Given the description of an element on the screen output the (x, y) to click on. 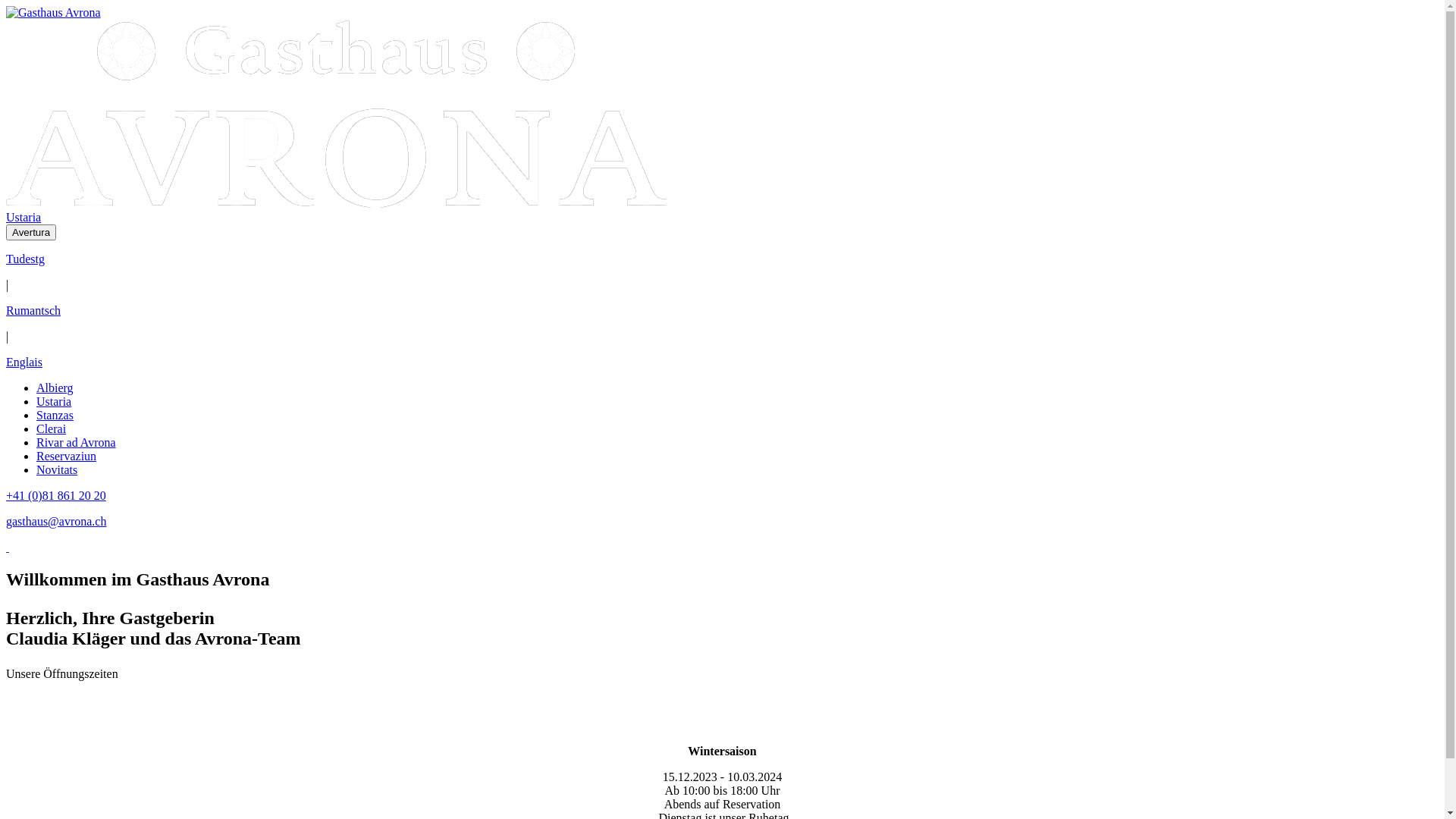
Stanzas Element type: text (54, 414)
Albierg Element type: text (54, 387)
Clerai Element type: text (50, 428)
Tudestg Element type: text (25, 258)
app.logo Element type: hover (335, 203)
Rumantsch Element type: text (33, 310)
Englais Element type: text (24, 361)
Ustaria Element type: text (23, 216)
Gasthaus Avrona Element type: hover (53, 12)
Novitats Element type: text (56, 469)
Avertura Element type: text (31, 232)
app.logo Element type: hover (53, 12)
Gasthaus Avrona Element type: hover (335, 113)
Rivar ad Avrona Element type: text (76, 442)
gasthaus@avrona.ch Element type: text (56, 520)
+41 (0)81 861 20 20 Element type: text (56, 495)
Reservaziun Element type: text (66, 455)
Ustaria Element type: text (53, 401)
